Given the description of an element on the screen output the (x, y) to click on. 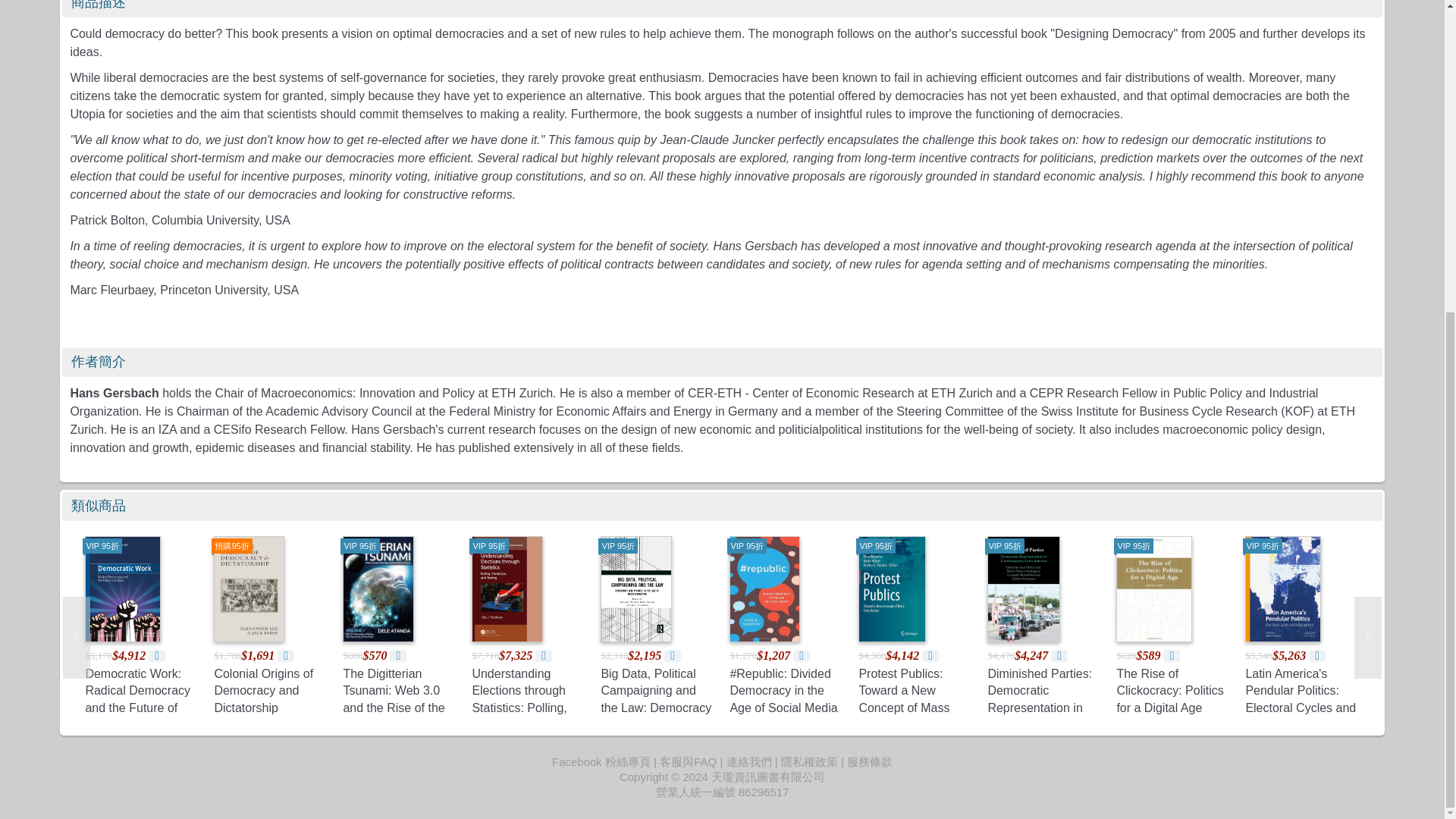
The Rise of Clickocracy: Politics for a Digital Age (1169, 690)
Colonial Origins of Democracy and Dictatorship (263, 690)
Democratic Work: Radical Democracy and the Future of Labour (137, 699)
Protest Publics: Toward a New Concept of Mass Civic Action (904, 699)
